Given the description of an element on the screen output the (x, y) to click on. 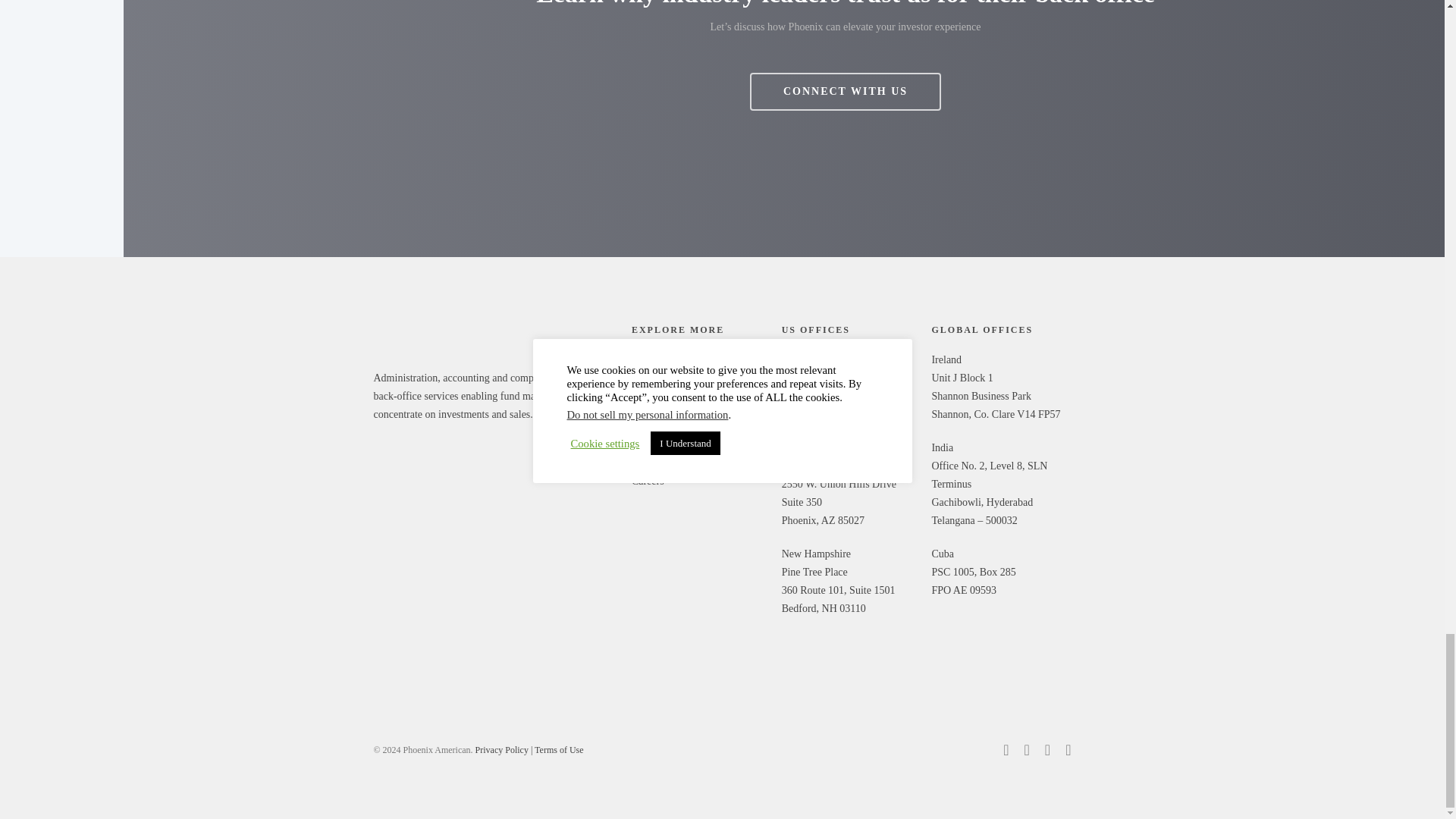
About Us (699, 408)
CONNECT WITH US (844, 91)
Careers (699, 481)
Leadership (699, 384)
Contact (699, 456)
Resources (699, 433)
Home (699, 360)
